Given the description of an element on the screen output the (x, y) to click on. 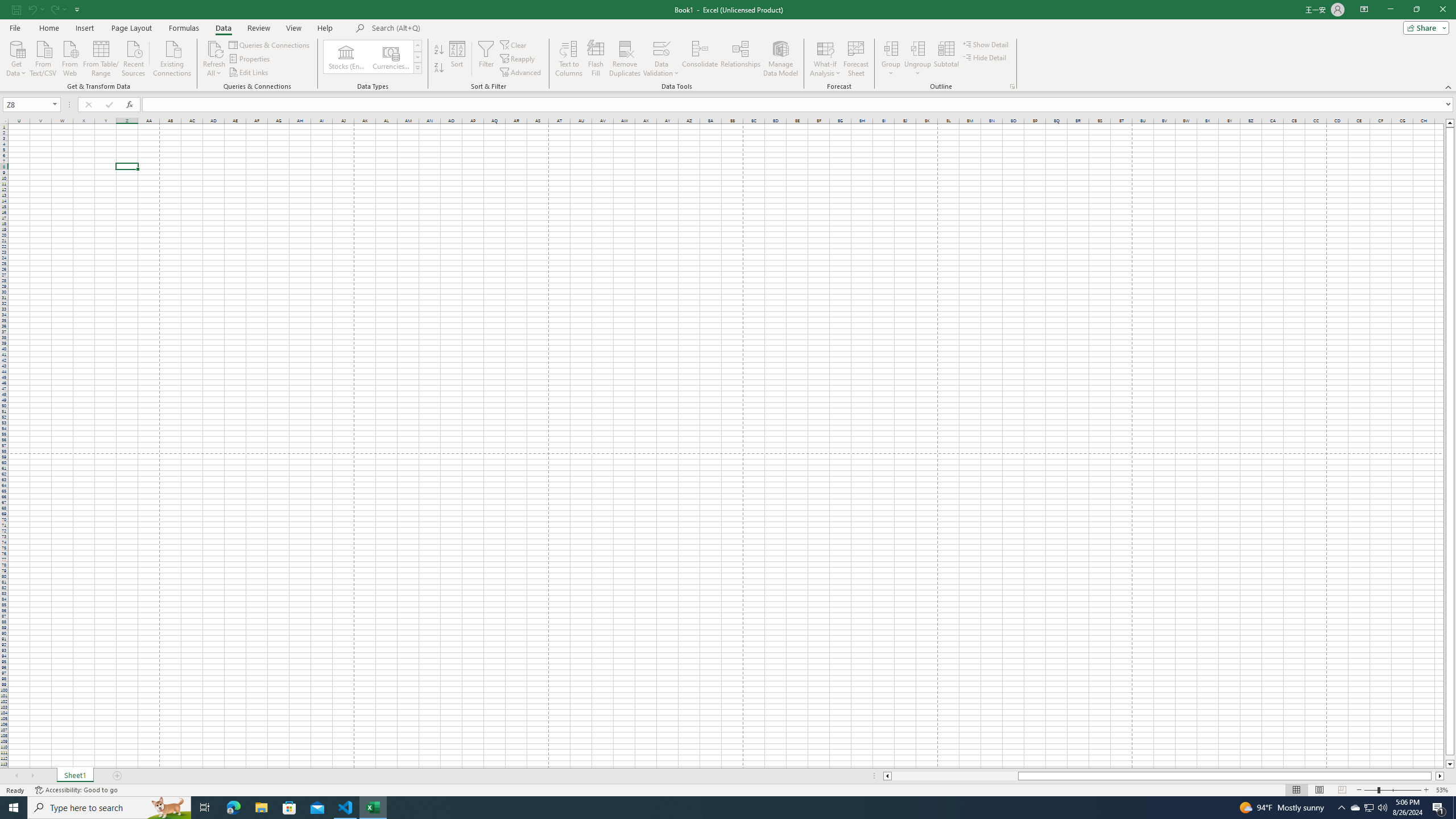
Consolidate... (700, 58)
